Given the description of an element on the screen output the (x, y) to click on. 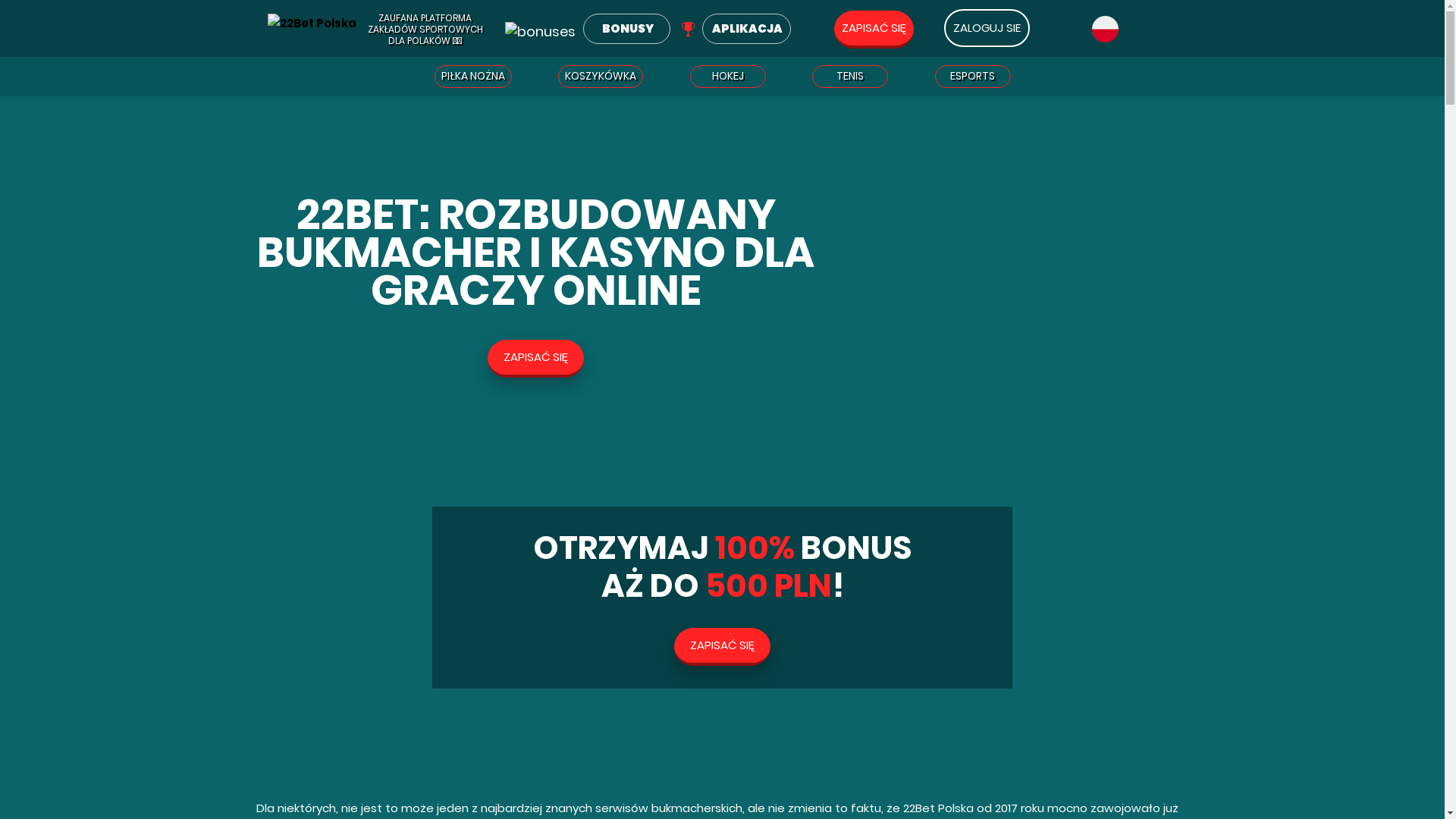
APLIKACJA Element type: text (746, 28)
mobile Element type: hover (687, 28)
ZALOGUJ SIE Element type: text (986, 28)
Polska Element type: hover (1105, 28)
bonuses Element type: hover (540, 28)
BONUSY Element type: text (626, 28)
